Given the description of an element on the screen output the (x, y) to click on. 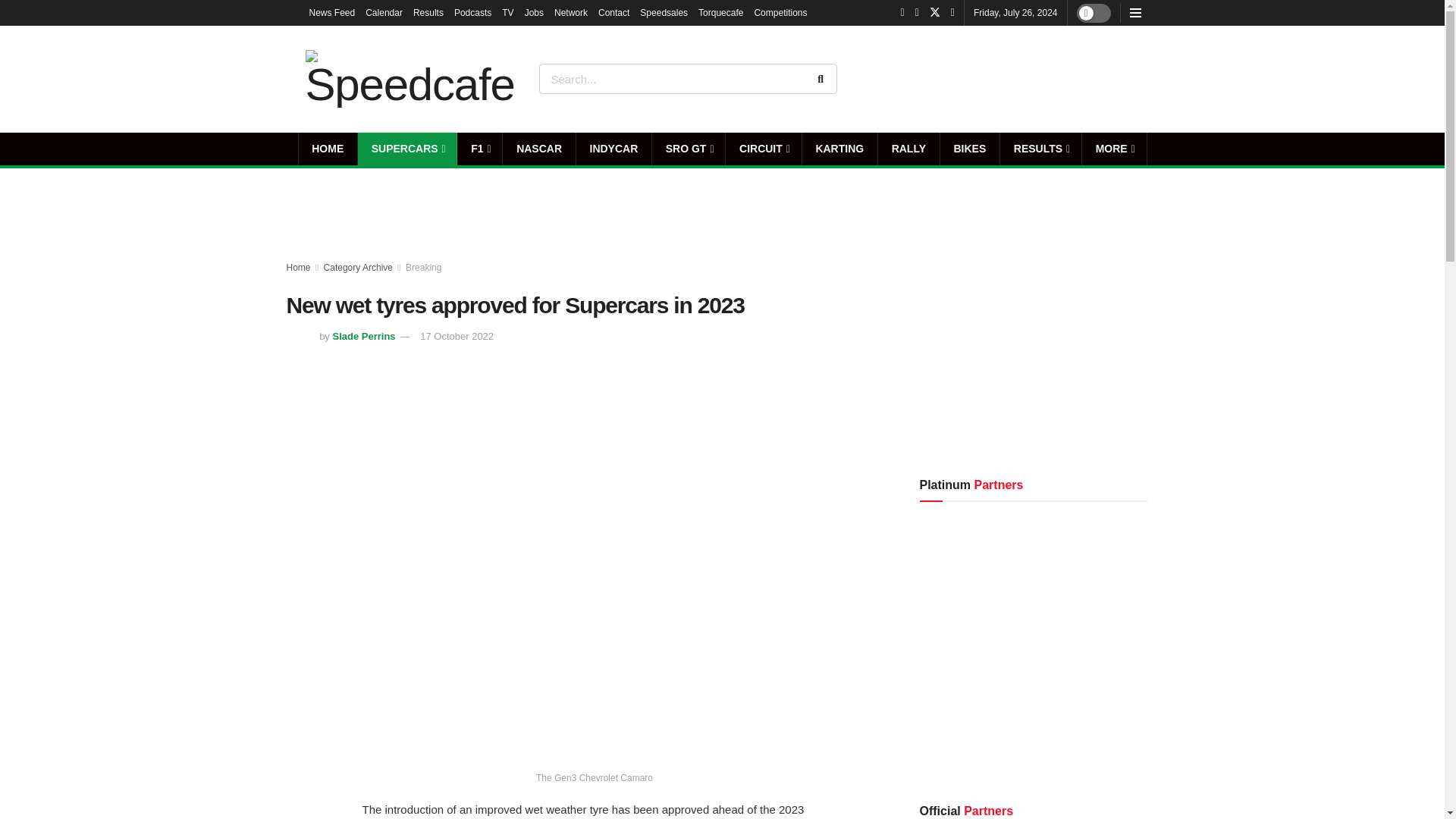
HOME (327, 148)
Truck Assist (1097, 78)
Speedsales (663, 12)
Results (428, 12)
Network (571, 12)
Contact (613, 12)
Podcasts (473, 12)
News Feed (331, 12)
Competitions (780, 12)
SUPERCARS (407, 148)
Calendar (384, 12)
F1 (479, 148)
Torquecafe (720, 12)
